Given the description of an element on the screen output the (x, y) to click on. 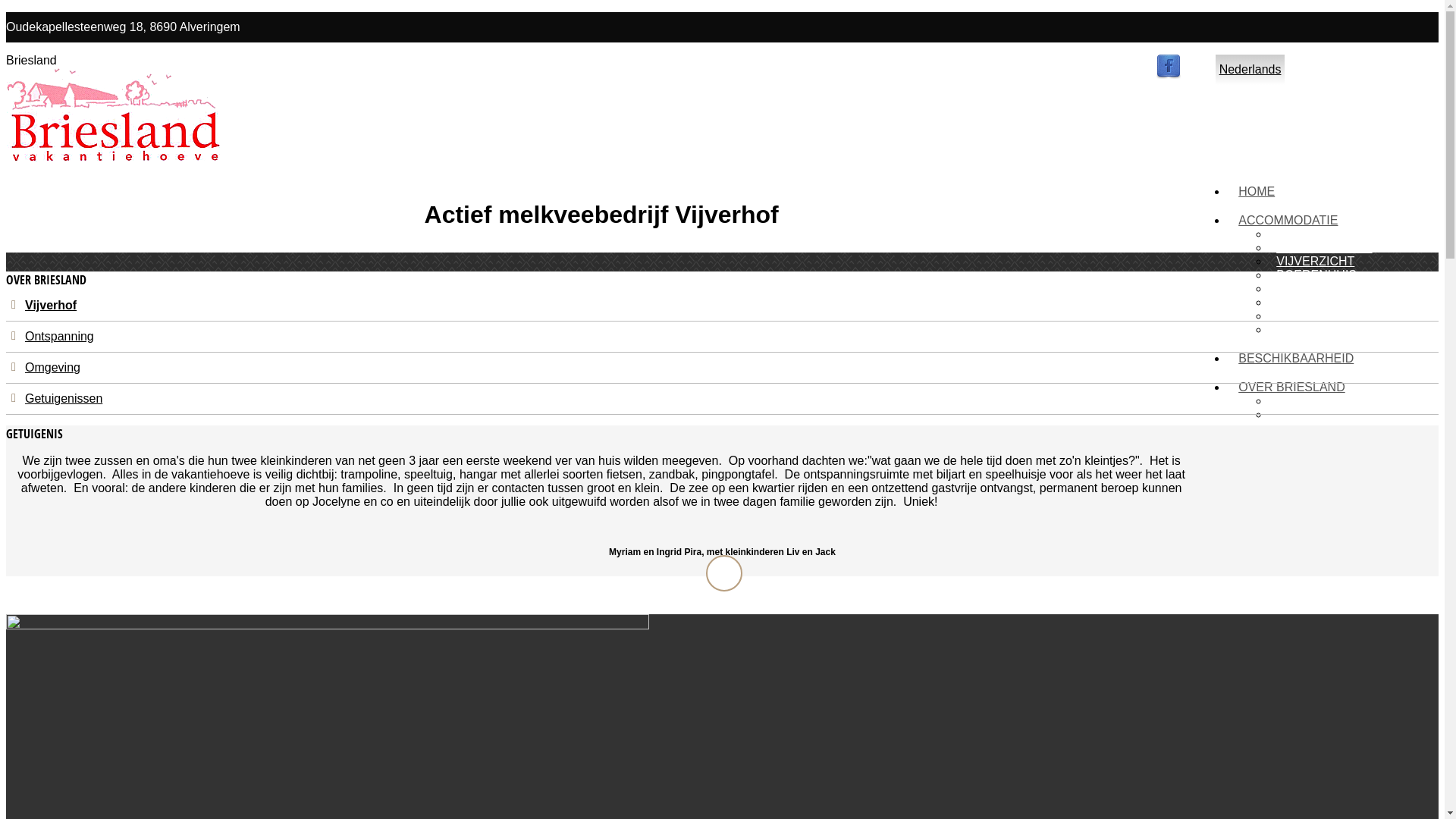
Ontspanning Element type: text (59, 335)
OVER BRIESLAND Element type: text (1291, 386)
VIJVERHOF Element type: text (1310, 400)
VIJVERZICHT Element type: text (1314, 261)
Facebook Element type: hover (1168, 74)
CONTACT Element type: text (1266, 470)
Deutsch Element type: text (1412, 68)
EASY CORNER Element type: text (1319, 301)
POLDERZICHT Element type: text (1318, 288)
Nederlands Element type: text (1250, 68)
BESCHIKBAARHEID Element type: text (1295, 357)
GETUIGENISSEN Element type: text (1325, 441)
English Element type: text (1307, 68)
VIJVERHUIS Element type: text (1311, 233)
VISSERSHUISJE Element type: text (1323, 247)
HOTEL / GASTENKAMER Element type: text (1347, 315)
HOME Element type: text (1256, 191)
OMGEVING Element type: text (1309, 427)
Omgeving Element type: text (52, 366)
Vijverhof Element type: text (50, 304)
Briesland Element type: hover (113, 157)
Getuigenissen Element type: text (63, 398)
ACCOMMODATIE Element type: text (1287, 219)
PRIJZEN Element type: text (1301, 329)
ONTSPANNING Element type: text (1319, 414)
BOERENHUIS Element type: text (1316, 274)
